Given the description of an element on the screen output the (x, y) to click on. 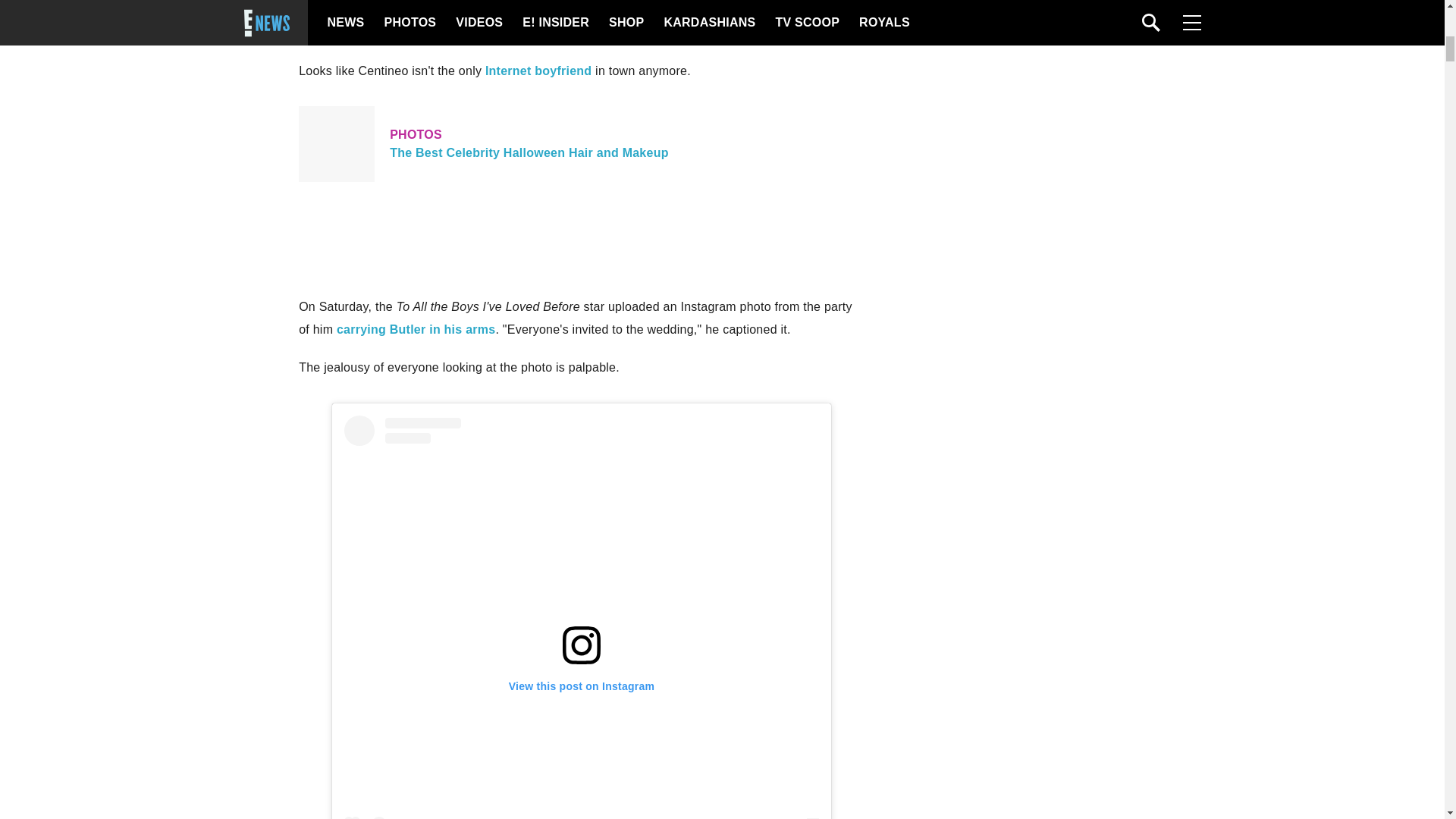
Internet boyfriend (581, 143)
View this post on Instagram (538, 70)
